Given the description of an element on the screen output the (x, y) to click on. 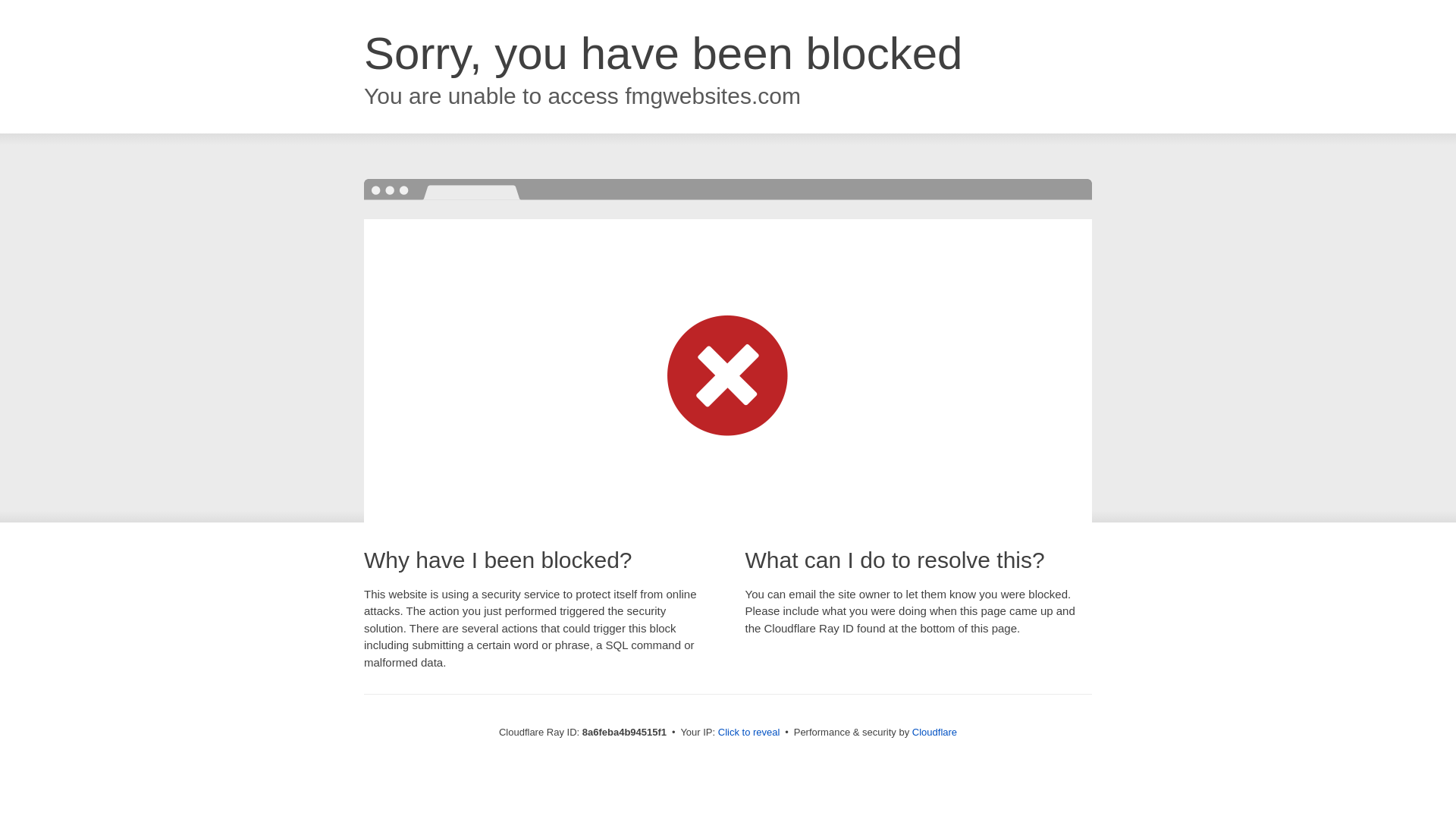
Cloudflare (934, 731)
Click to reveal (748, 732)
